Given the description of an element on the screen output the (x, y) to click on. 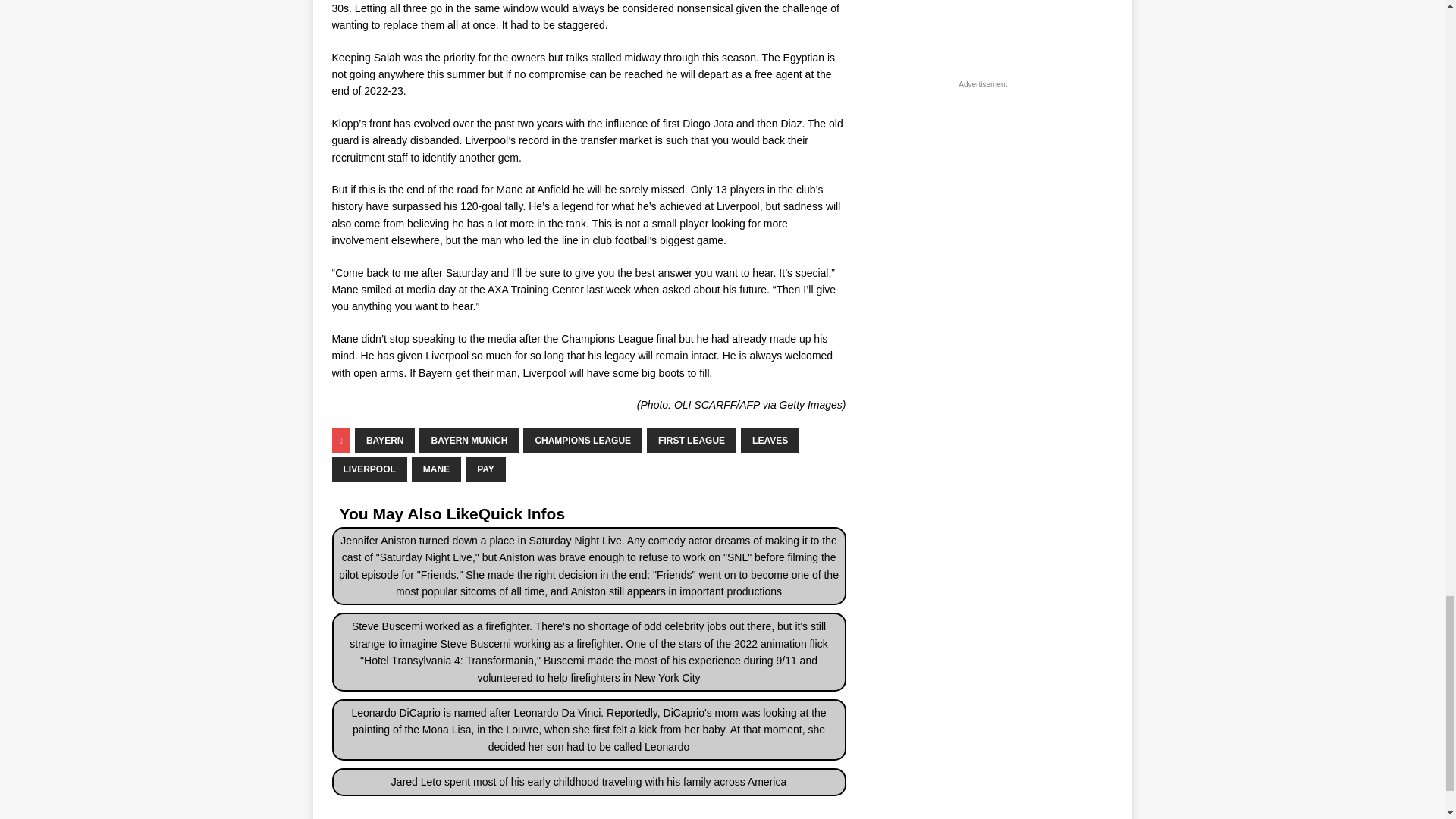
PAY (485, 469)
BAYERN MUNICH (468, 440)
LIVERPOOL (369, 469)
CHAMPIONS LEAGUE (582, 440)
LEAVES (770, 440)
MANE (436, 469)
FIRST LEAGUE (691, 440)
BAYERN (384, 440)
